Given the description of an element on the screen output the (x, y) to click on. 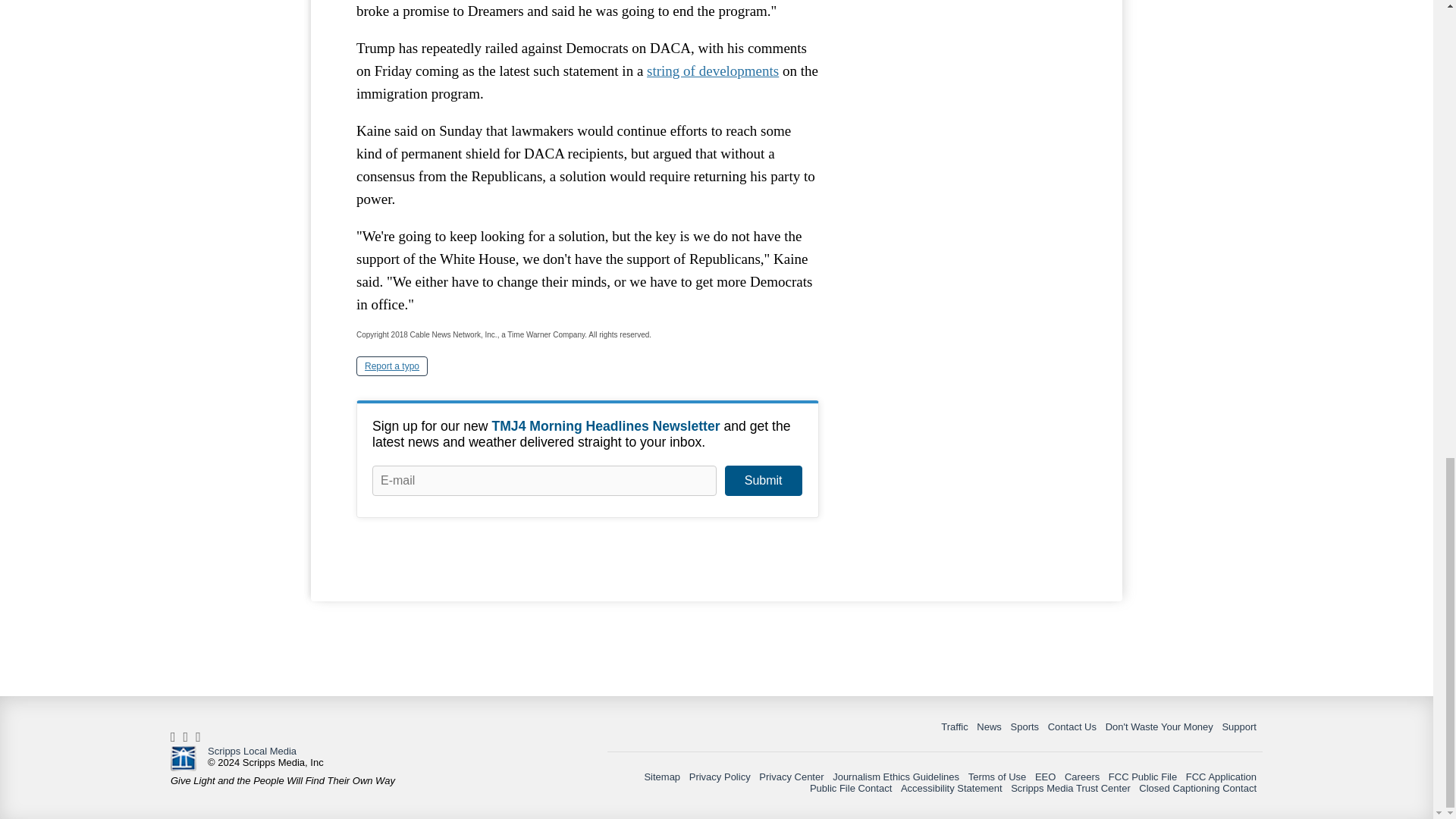
Submit (763, 481)
